Given the description of an element on the screen output the (x, y) to click on. 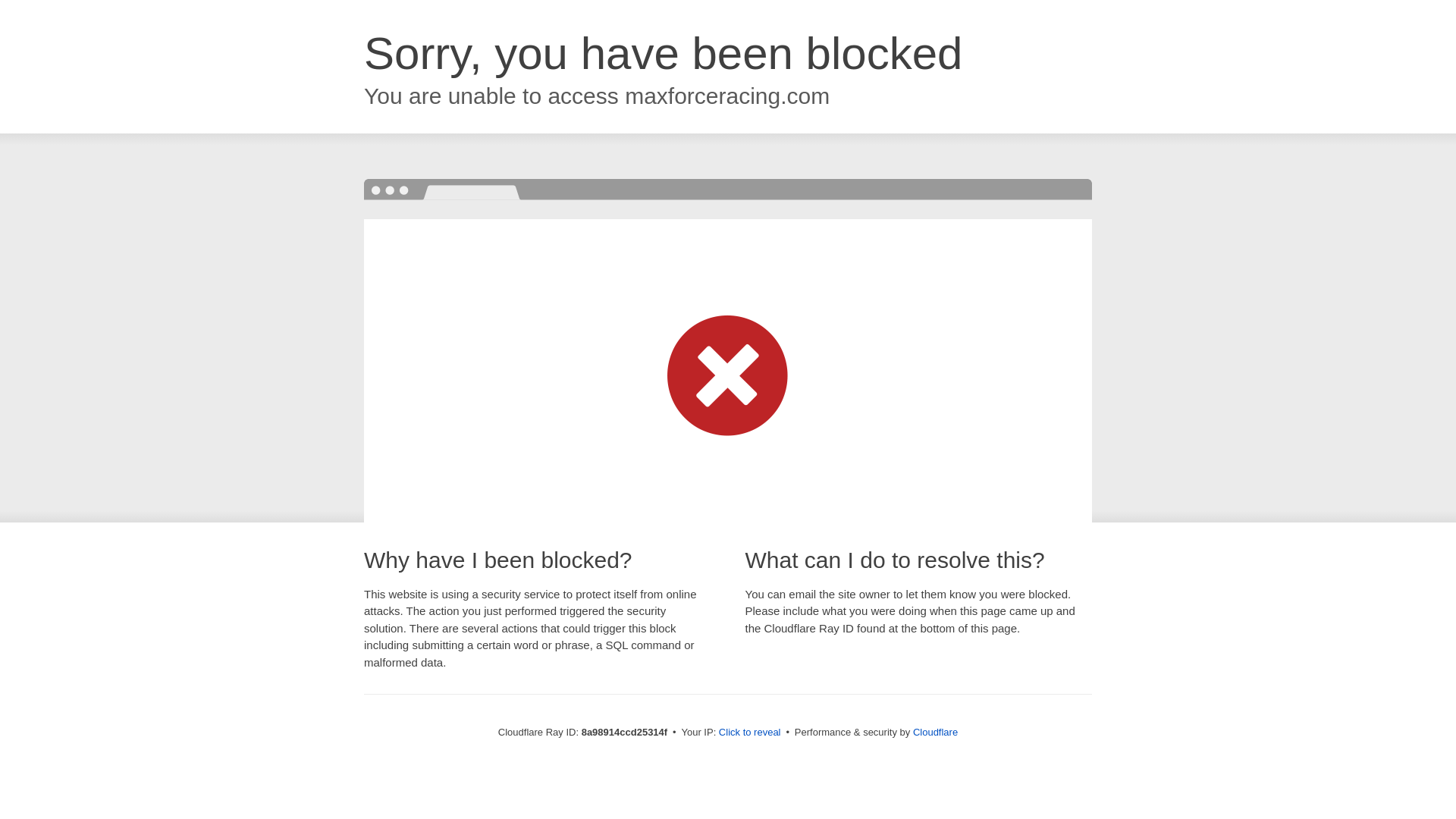
Click to reveal (749, 732)
Cloudflare (935, 731)
